Given the description of an element on the screen output the (x, y) to click on. 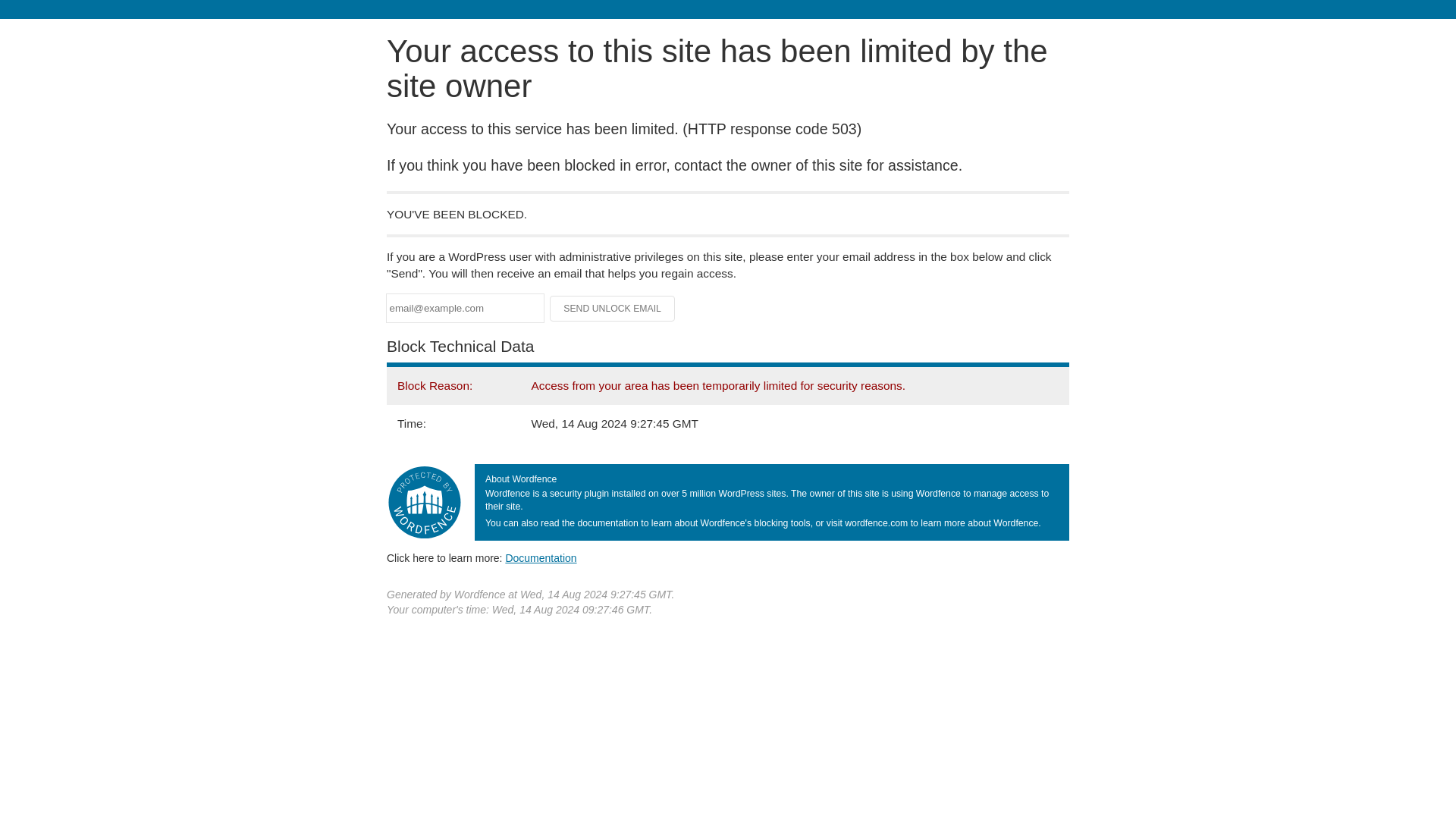
Send Unlock Email (612, 308)
Send Unlock Email (612, 308)
Documentation (540, 558)
